Given the description of an element on the screen output the (x, y) to click on. 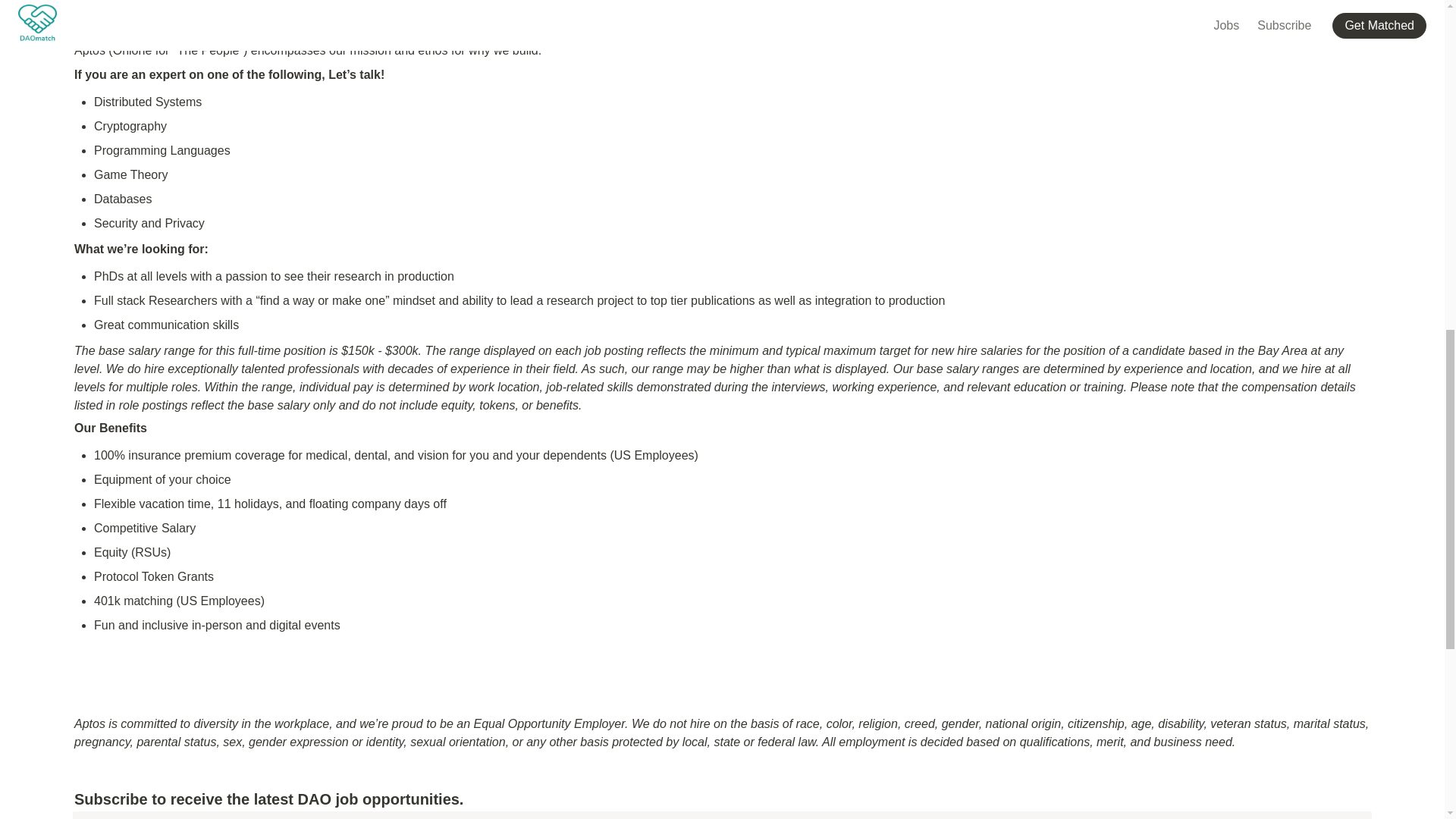
daomatch.substack.com (272, 815)
